Given the description of an element on the screen output the (x, y) to click on. 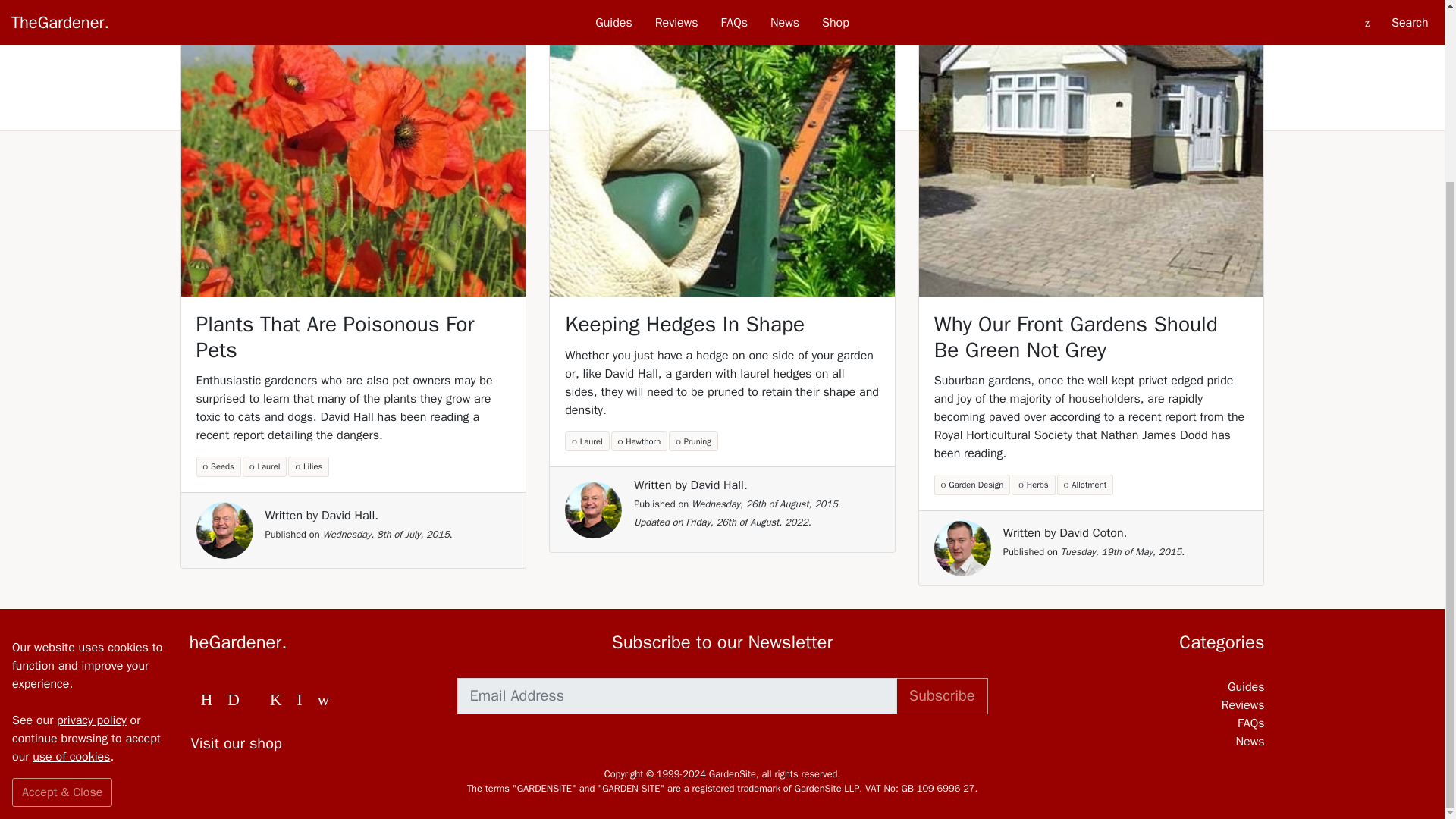
privacy policy (91, 496)
News (1136, 741)
Reviews (1136, 705)
TheGardener. (306, 642)
use of cookies (71, 532)
Subscribe (942, 696)
Visit our shop (306, 743)
Guides (1136, 687)
FAQs (1136, 723)
